Given the description of an element on the screen output the (x, y) to click on. 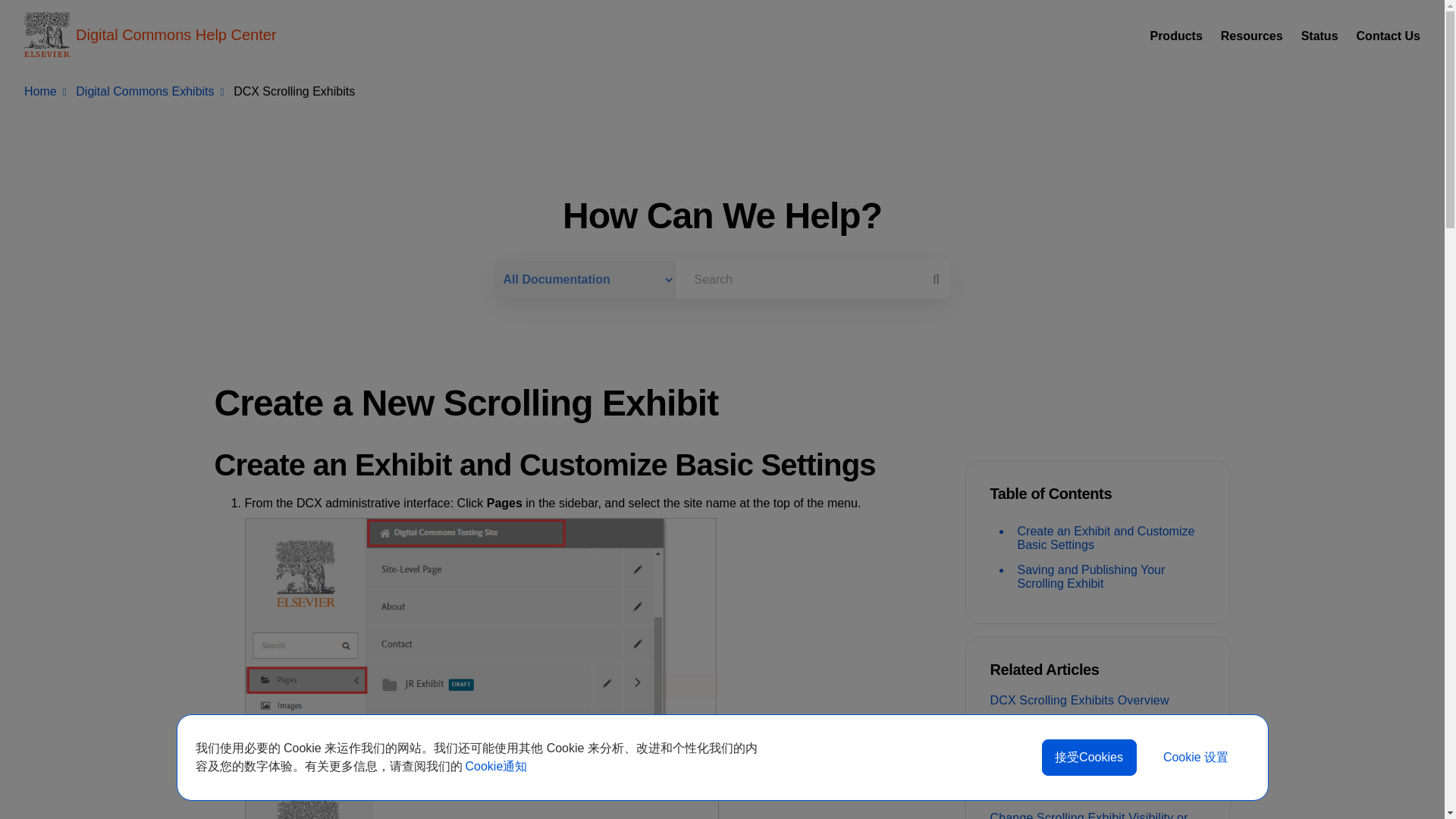
Status (1320, 35)
Content Types in Scrolling Exhibits (1097, 784)
DCX Scrolling Exhibits Overview (1097, 700)
Change Scrolling Exhibit Visibility or Thumbnail (1097, 813)
Products (1175, 35)
Digital Commons Help Center (150, 34)
Saving and Publishing Your Scrolling Exhibit (1108, 577)
Contact Us (1388, 35)
DCX Scrolling Exhibits (293, 91)
Contact Us (1388, 35)
